Given the description of an element on the screen output the (x, y) to click on. 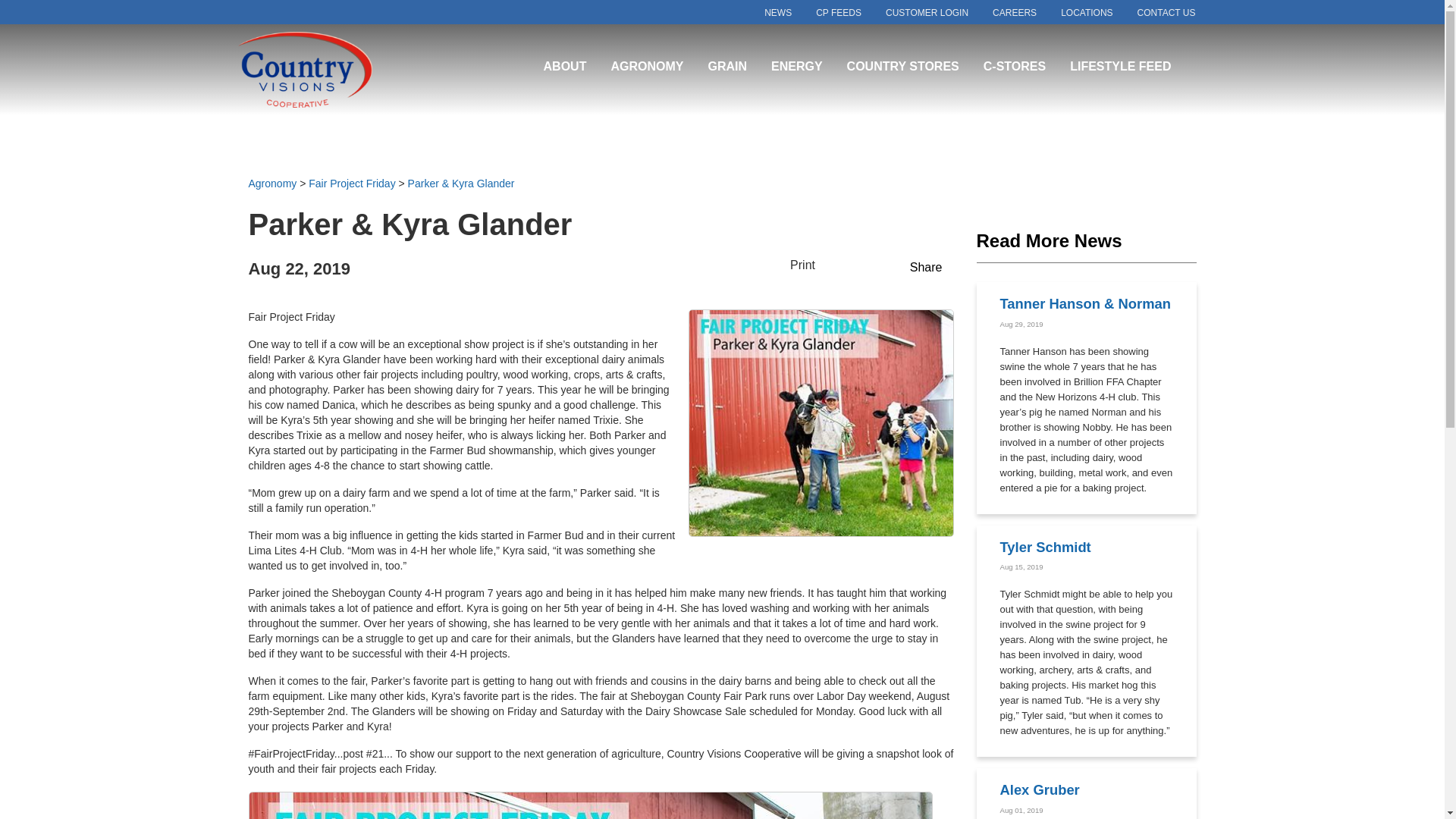
Country Visions (330, 69)
AGRONOMY (646, 66)
GRAIN (726, 66)
ENERGY (796, 66)
C-STORES (1014, 66)
ABOUT (564, 66)
COUNTRY STORES (903, 66)
